Given the description of an element on the screen output the (x, y) to click on. 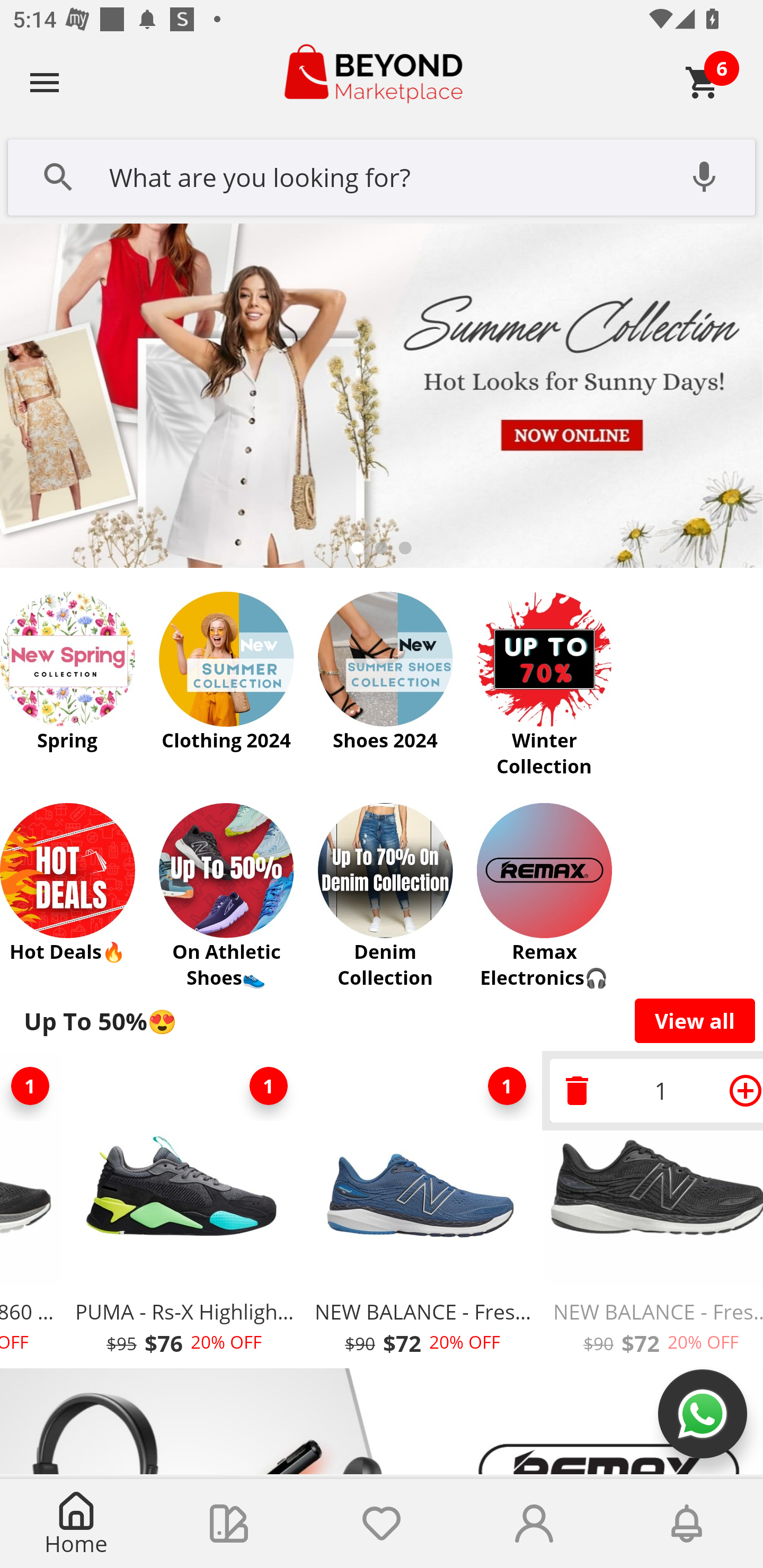
Navigate up (44, 82)
What are you looking for? (381, 175)
View all (694, 1020)
1 (32, 1085)
1 (268, 1085)
1 (506, 1085)
1 (652, 1090)
Collections (228, 1523)
Wishlist (381, 1523)
Account (533, 1523)
Notifications (686, 1523)
